Given the description of an element on the screen output the (x, y) to click on. 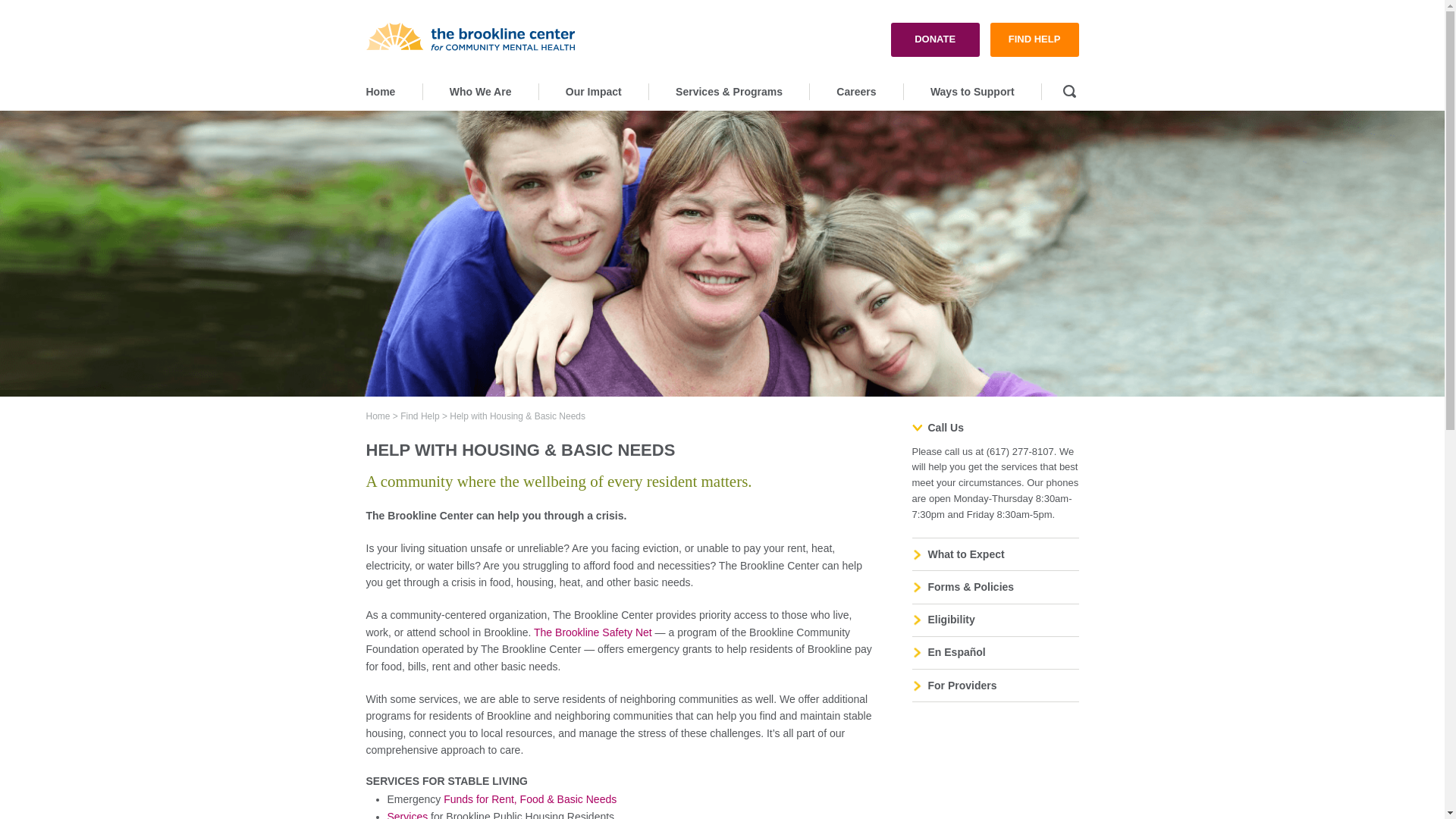
FIND HELP (1034, 39)
Our Impact (593, 91)
Who We Are (480, 91)
DONATE (935, 39)
Home (393, 91)
